Given the description of an element on the screen output the (x, y) to click on. 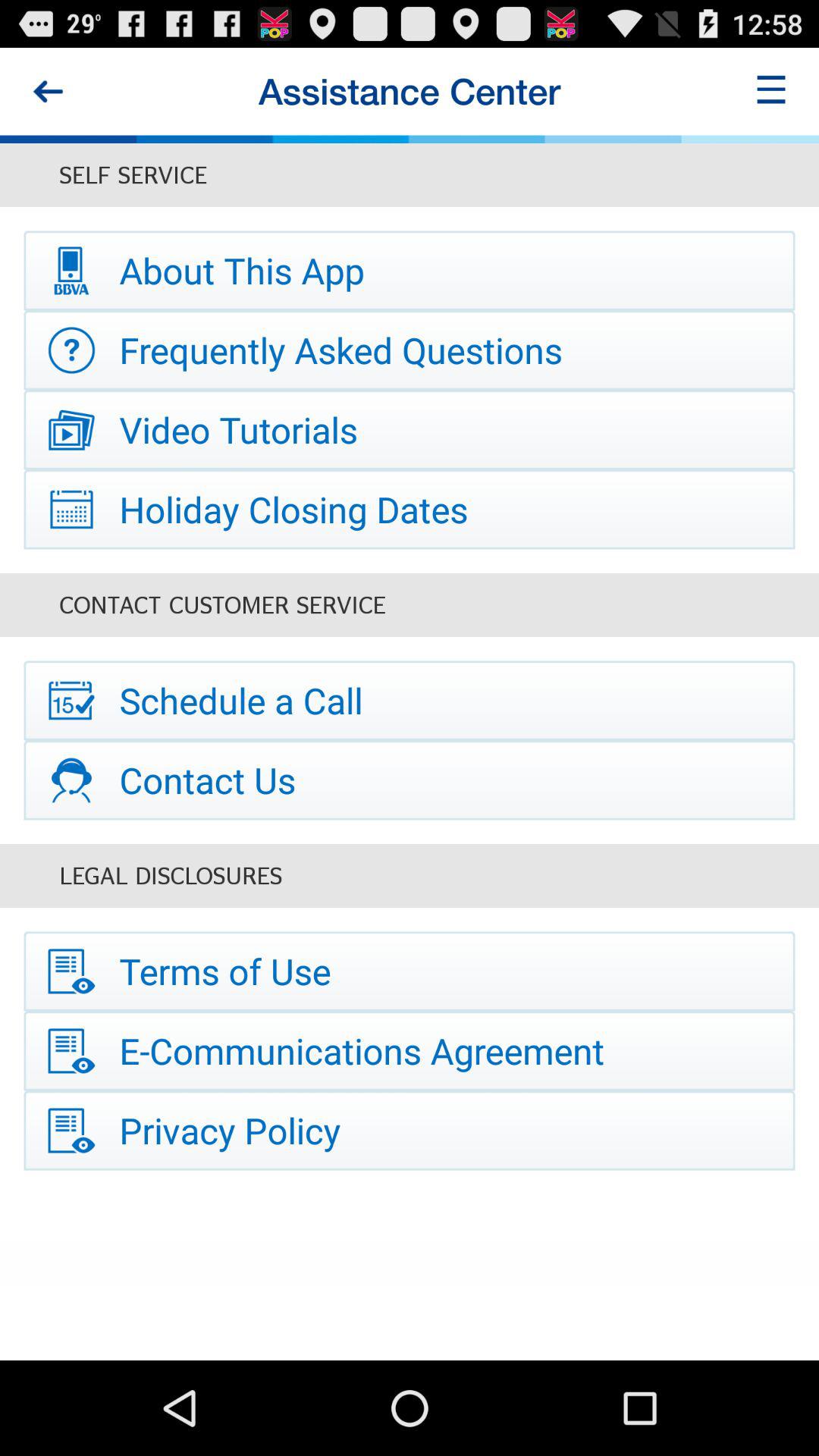
click the assistance center item (409, 91)
